Given the description of an element on the screen output the (x, y) to click on. 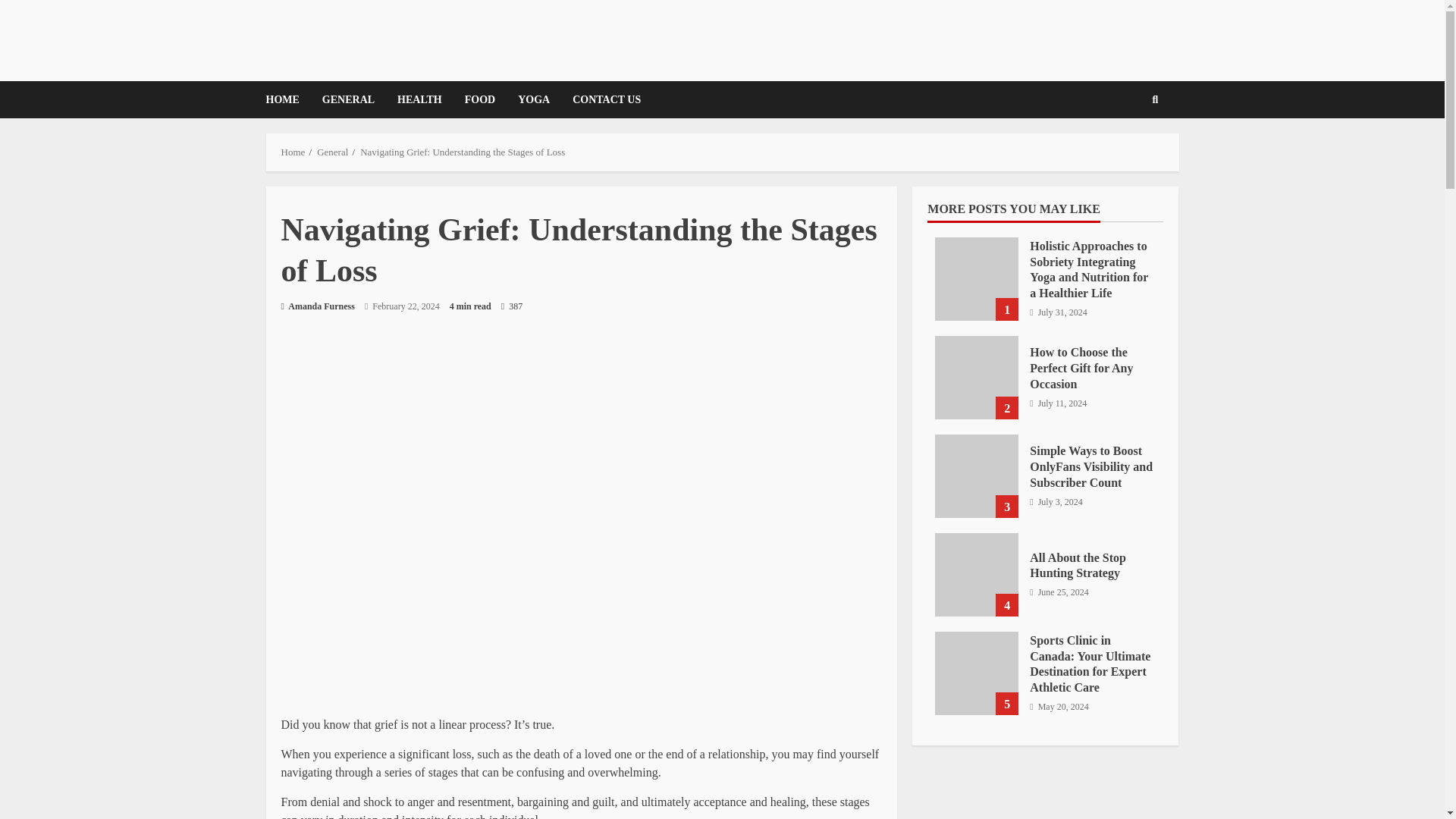
GENERAL (348, 99)
Search (1131, 151)
Amanda Furness (317, 305)
CONTACT US (600, 99)
Navigating Grief: Understanding the Stages of Loss (461, 152)
HEALTH (418, 99)
Home (292, 152)
FOOD (479, 99)
HOME (287, 99)
387 (511, 306)
YOGA (533, 99)
General (332, 152)
